Given the description of an element on the screen output the (x, y) to click on. 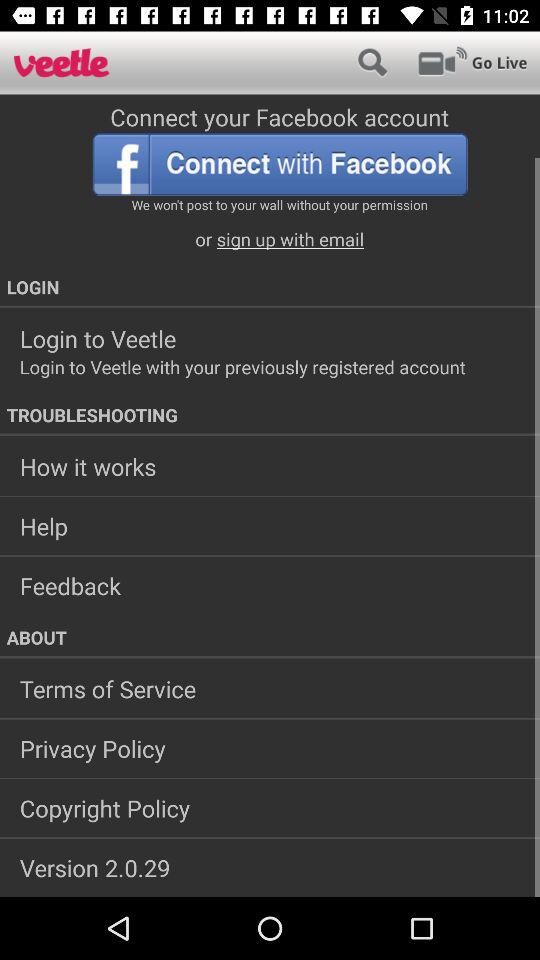
launch icon below help (270, 585)
